Given the description of an element on the screen output the (x, y) to click on. 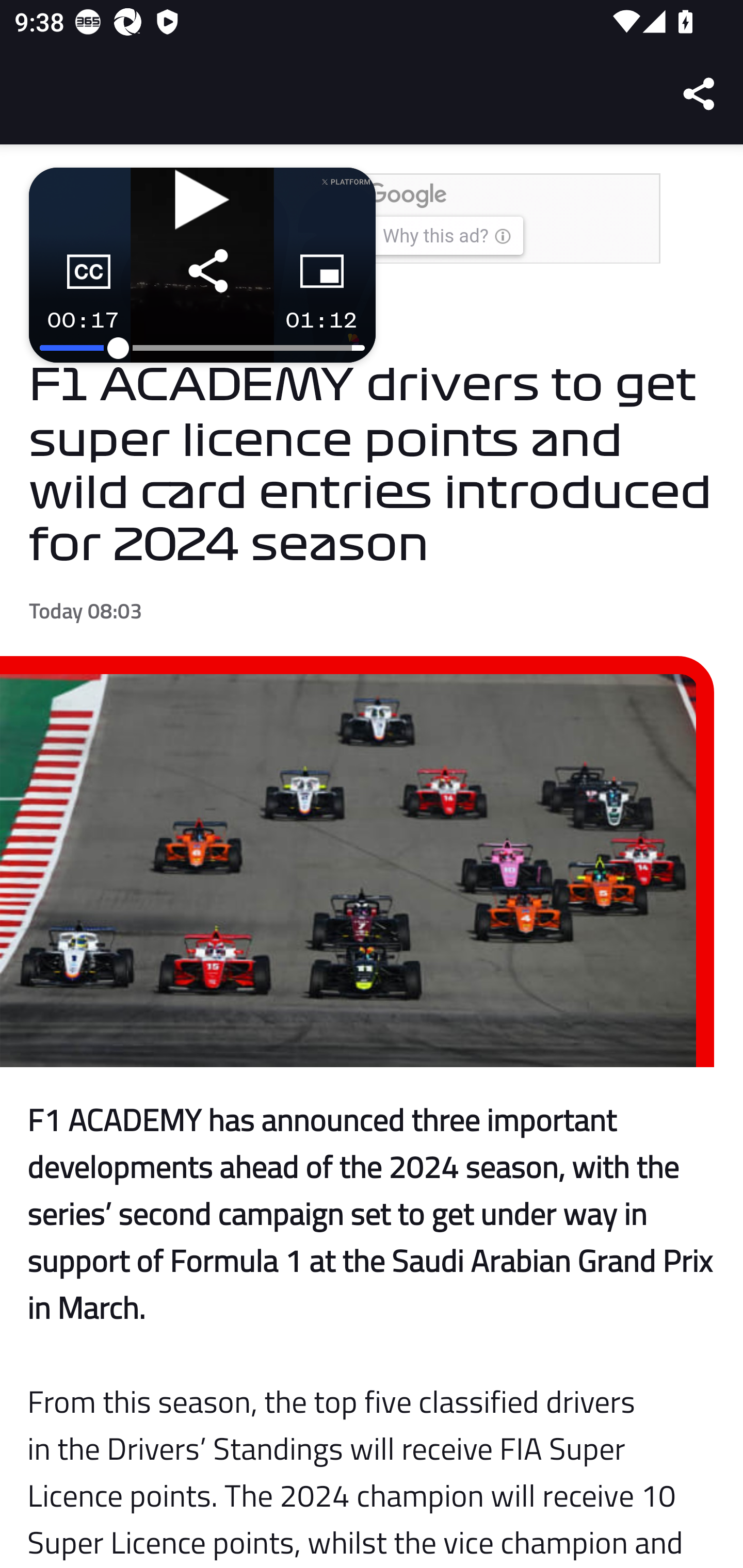
Share (699, 93)
